Given the description of an element on the screen output the (x, y) to click on. 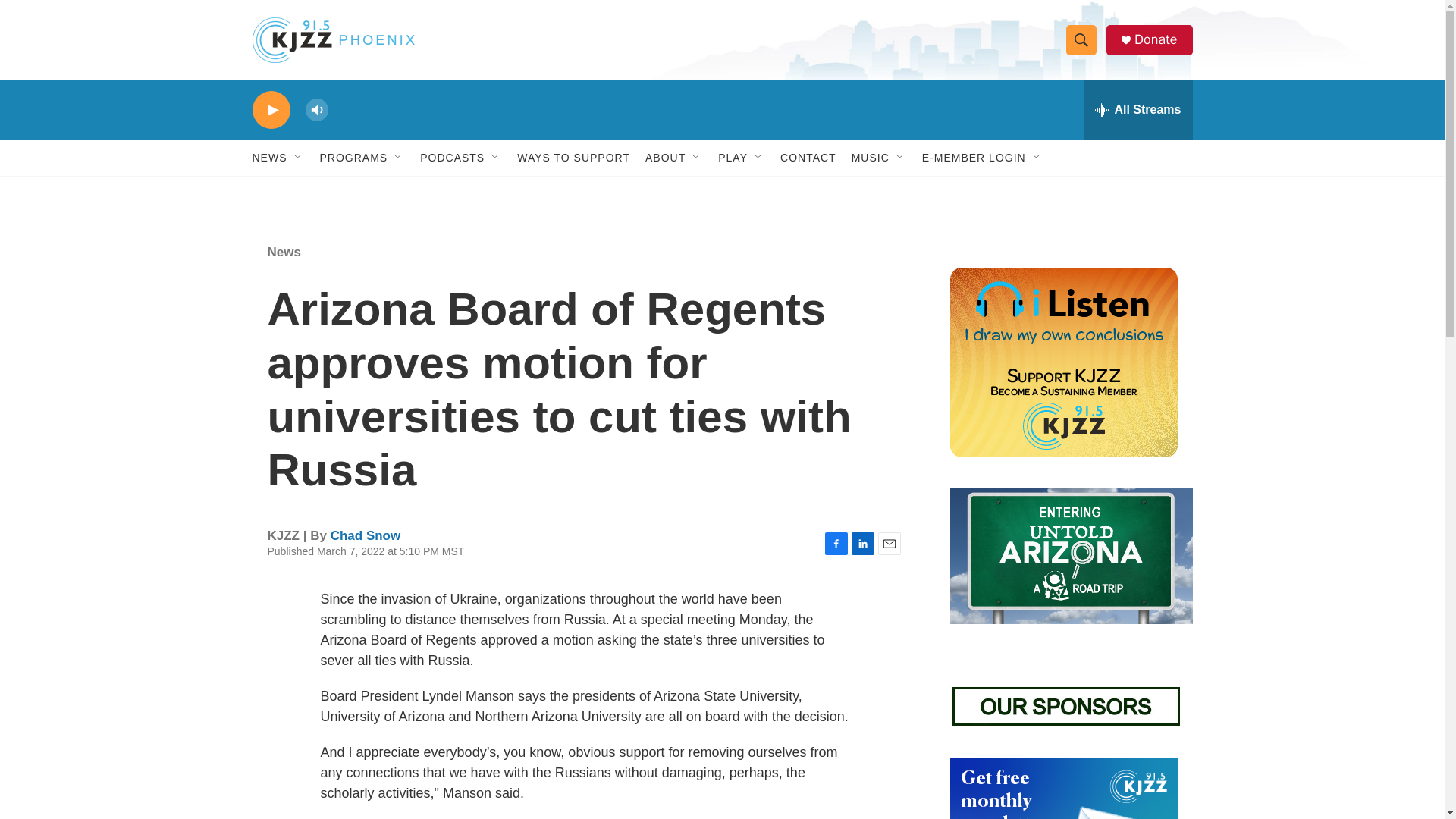
Subscribe to our newsletters (1062, 788)
